Given the description of an element on the screen output the (x, y) to click on. 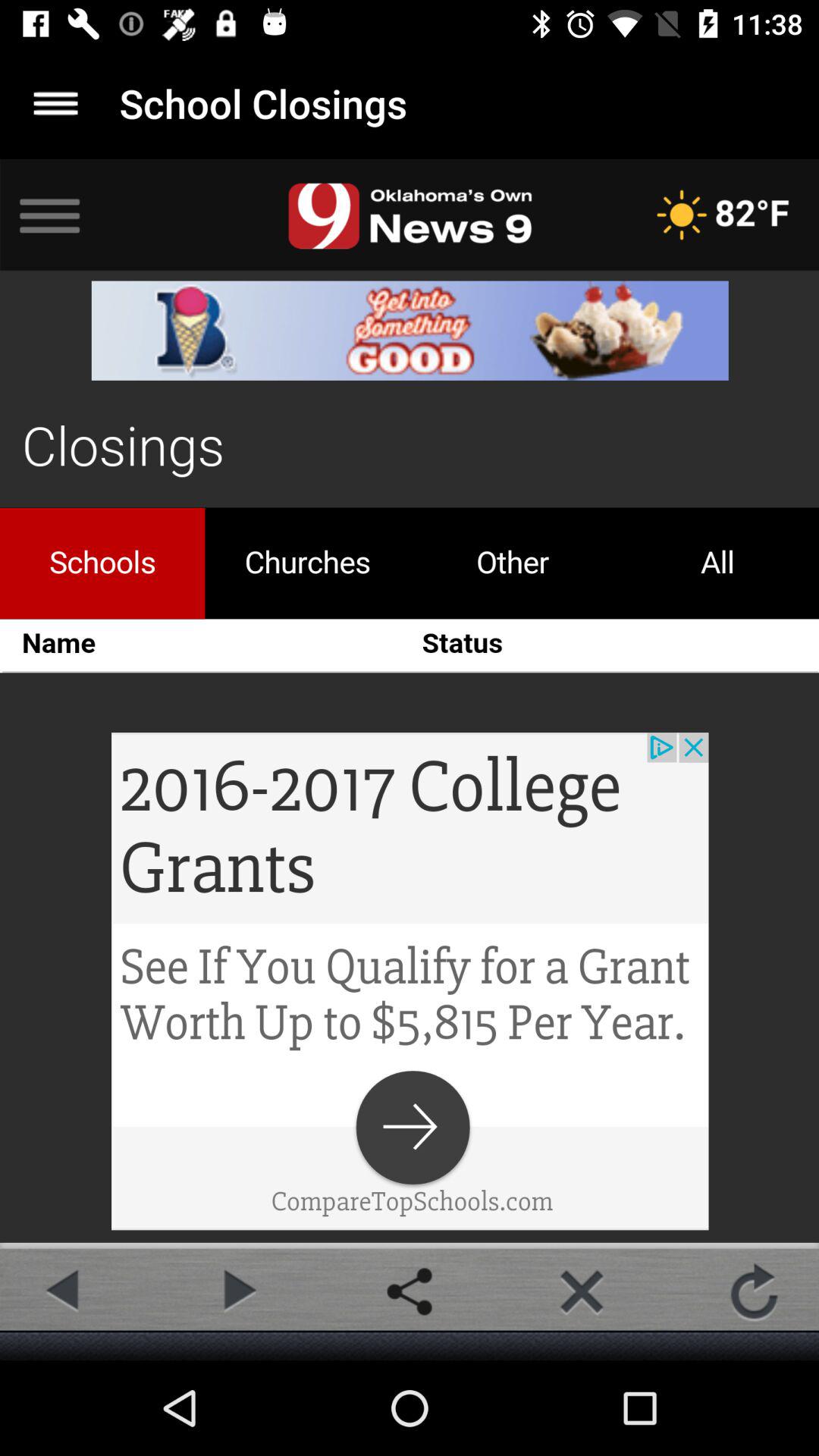
go to main options (55, 103)
